Given the description of an element on the screen output the (x, y) to click on. 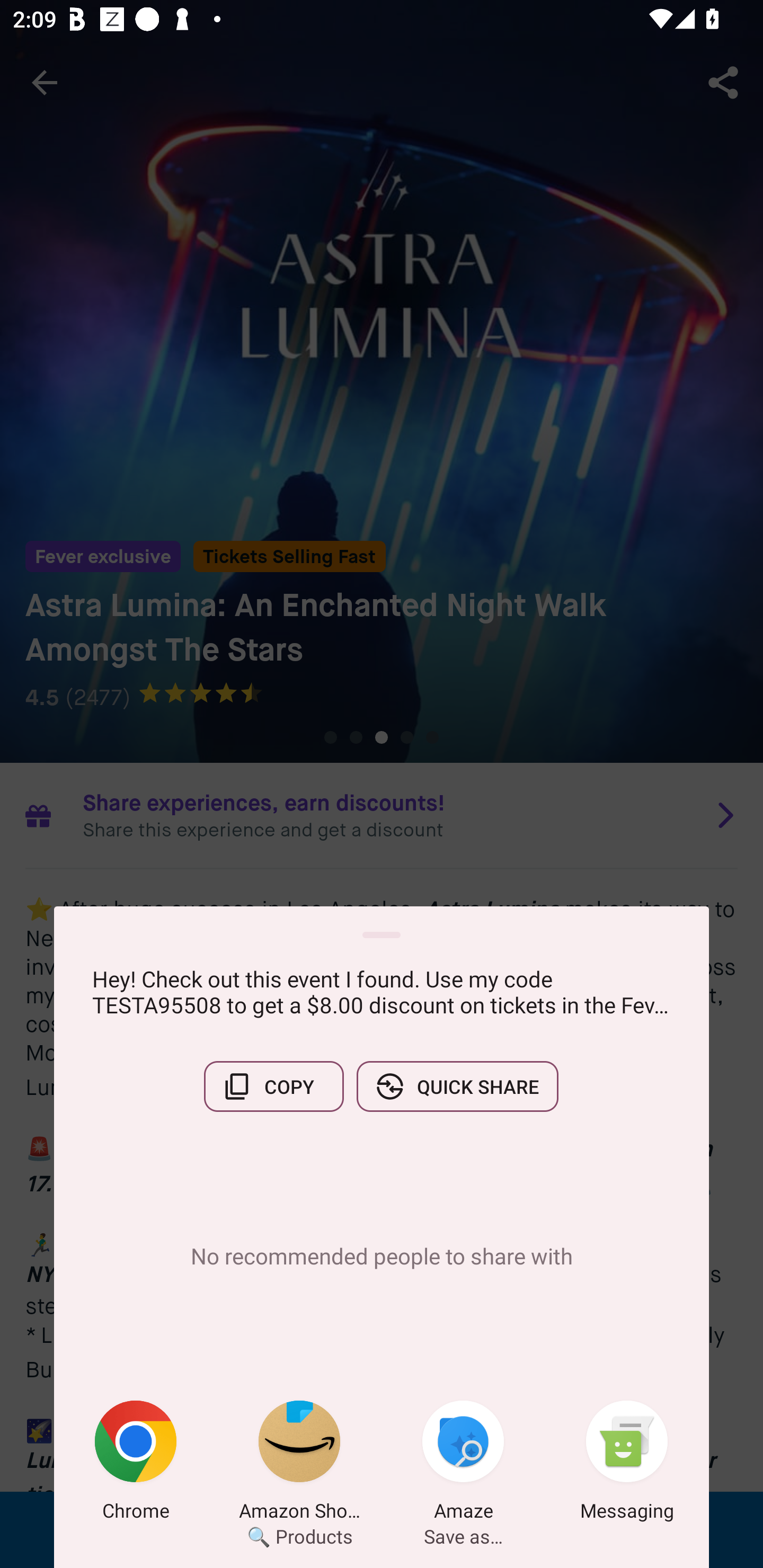
COPY (273, 1086)
QUICK SHARE (457, 1086)
Chrome (135, 1463)
Amazon Shopping 🔍 Products (299, 1463)
Amaze Save as… (463, 1463)
Messaging (626, 1463)
